Given the description of an element on the screen output the (x, y) to click on. 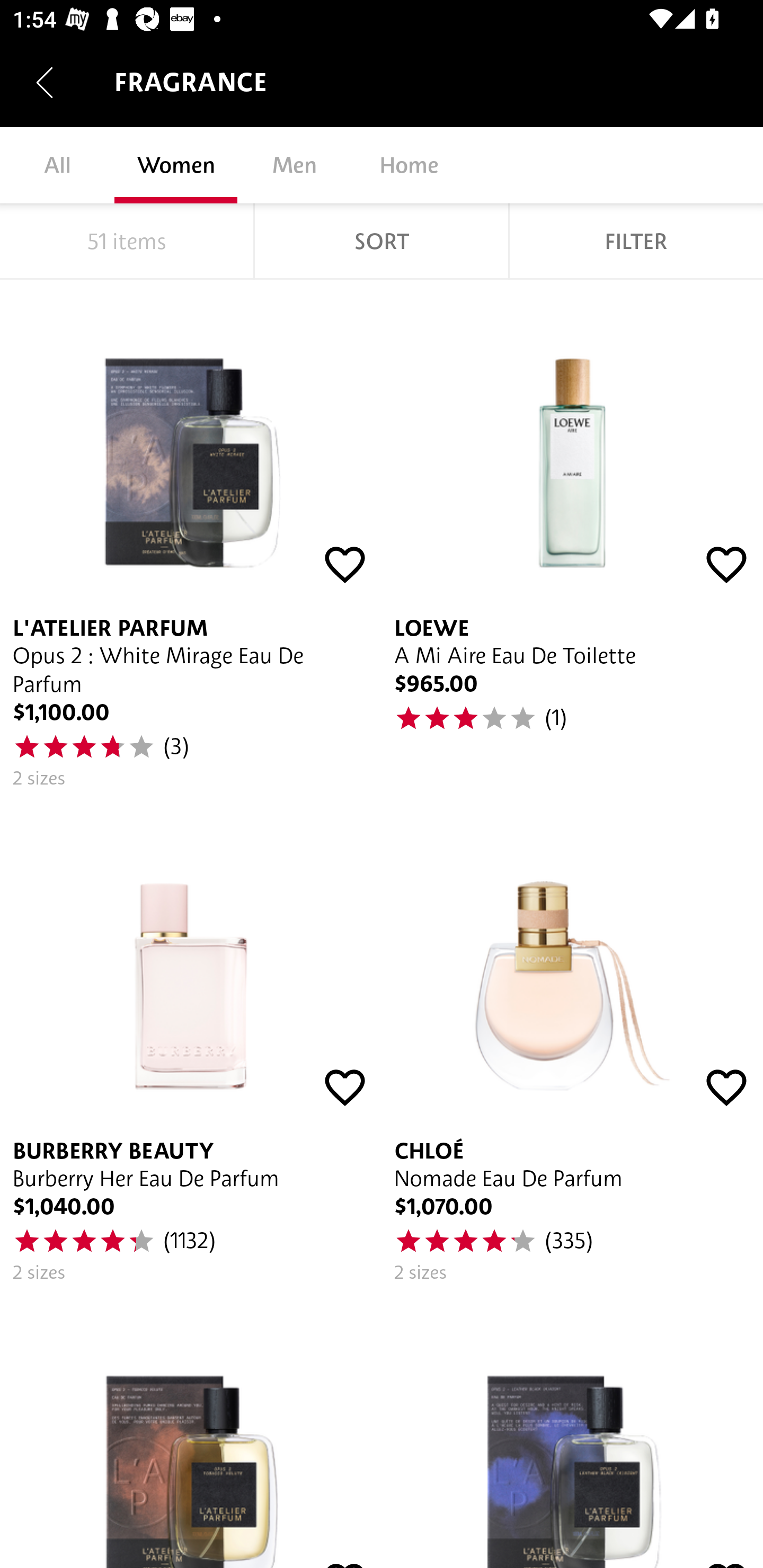
Navigate up (44, 82)
All (57, 165)
Men (294, 165)
Home (408, 165)
SORT (381, 241)
FILTER (636, 241)
LOEWE A Mi Aire Eau De Toilette $965.00 30.0 (1) (572, 540)
